Given the description of an element on the screen output the (x, y) to click on. 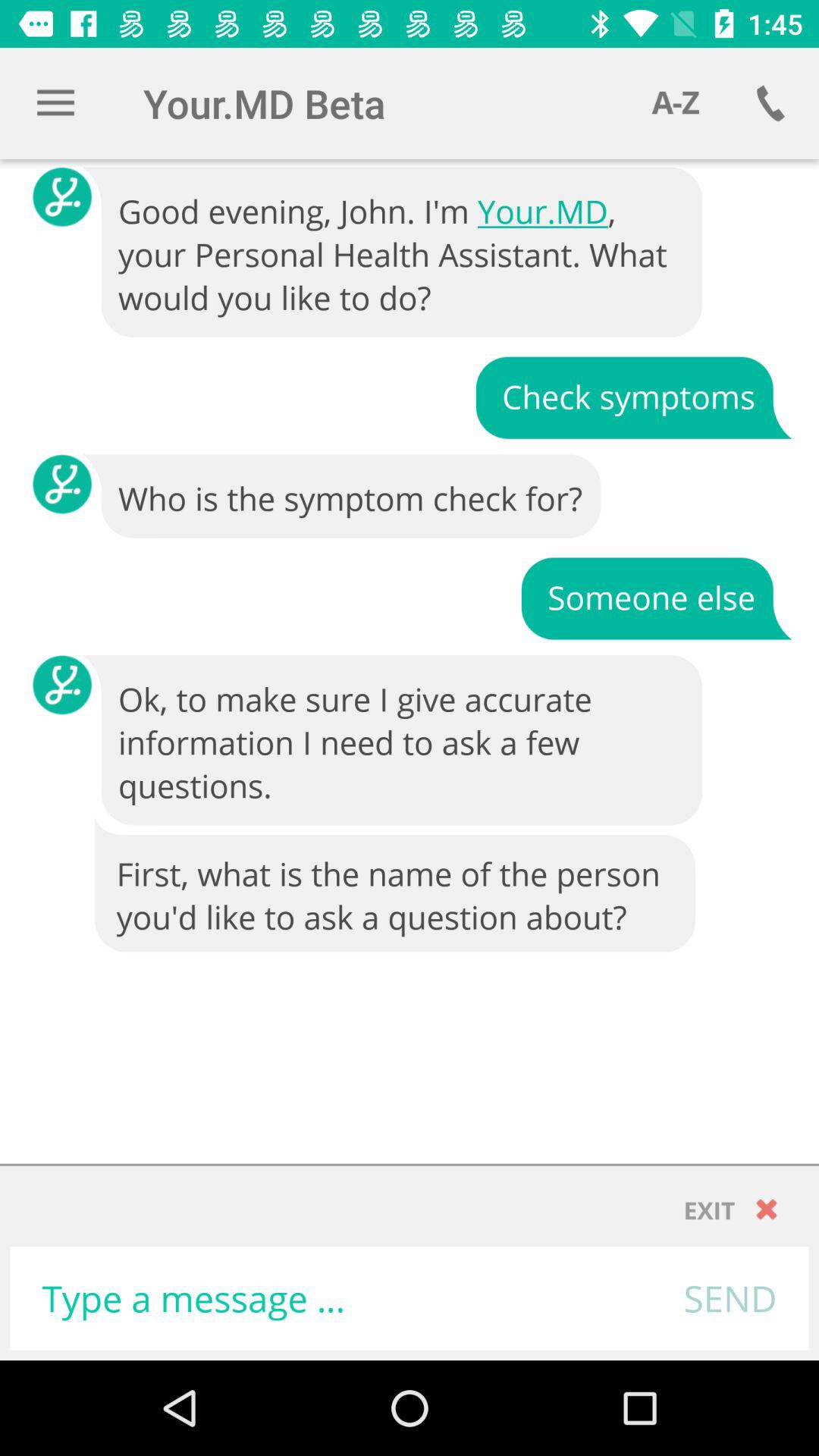
turn off the item below who is the (656, 597)
